Given the description of an element on the screen output the (x, y) to click on. 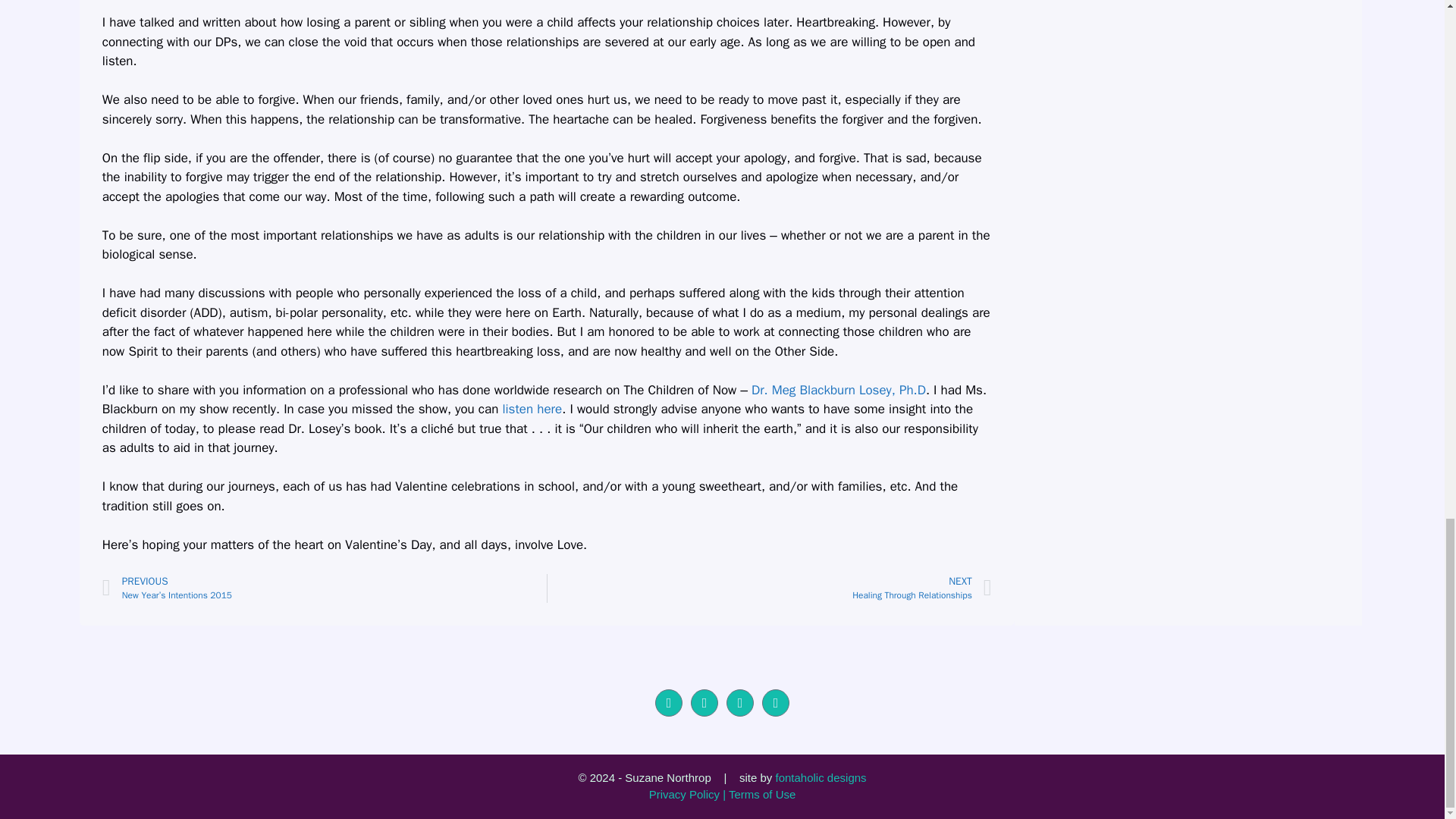
Dr. Meg Blackburn Losey, Ph.D (838, 390)
listen here (769, 588)
